Given the description of an element on the screen output the (x, y) to click on. 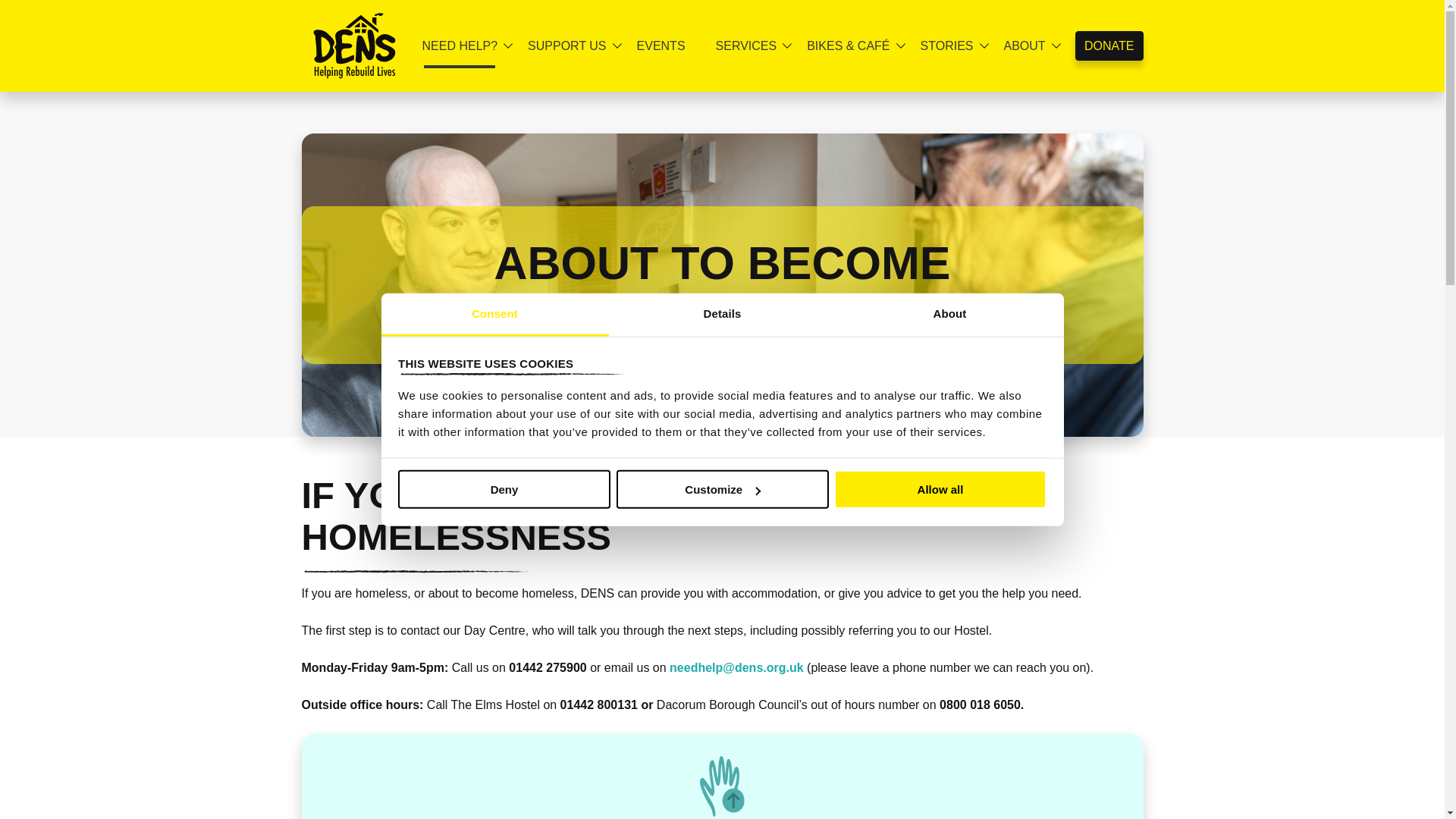
About (948, 314)
Details (721, 314)
Consent (494, 314)
